Given the description of an element on the screen output the (x, y) to click on. 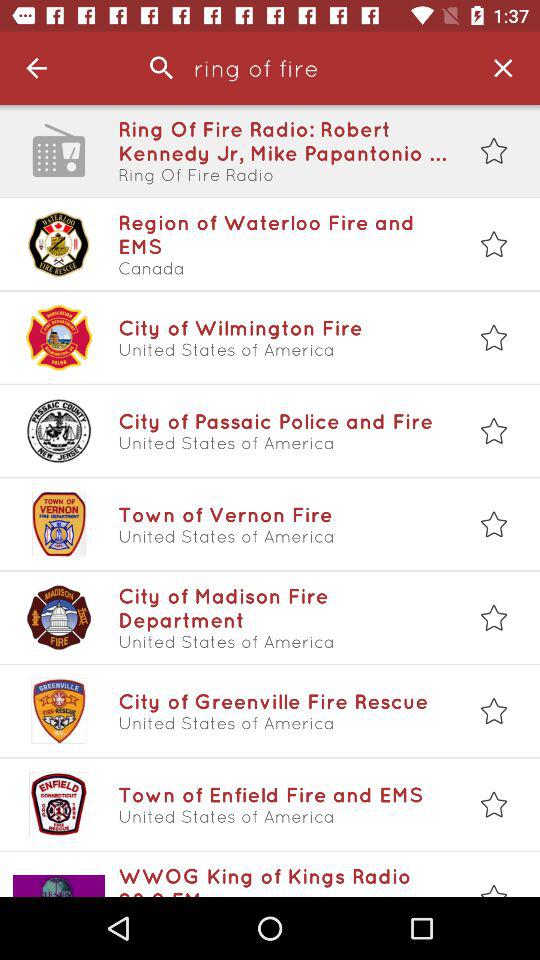
swipe until the canada (283, 268)
